Given the description of an element on the screen output the (x, y) to click on. 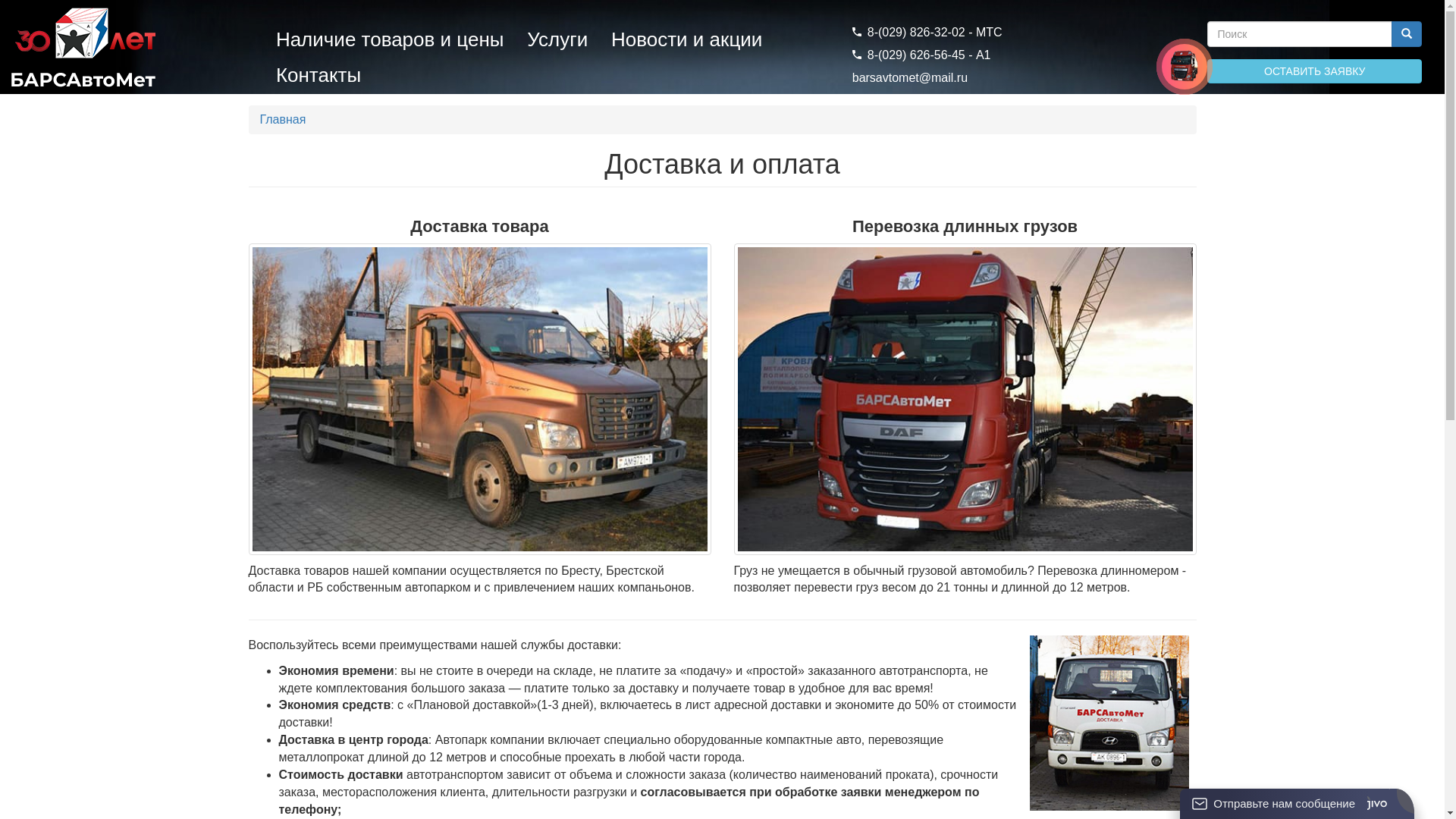
barsavtomet@mail.ru Element type: text (909, 77)
8-(029) 626-56-45 - A1 Element type: text (921, 54)
